Given the description of an element on the screen output the (x, y) to click on. 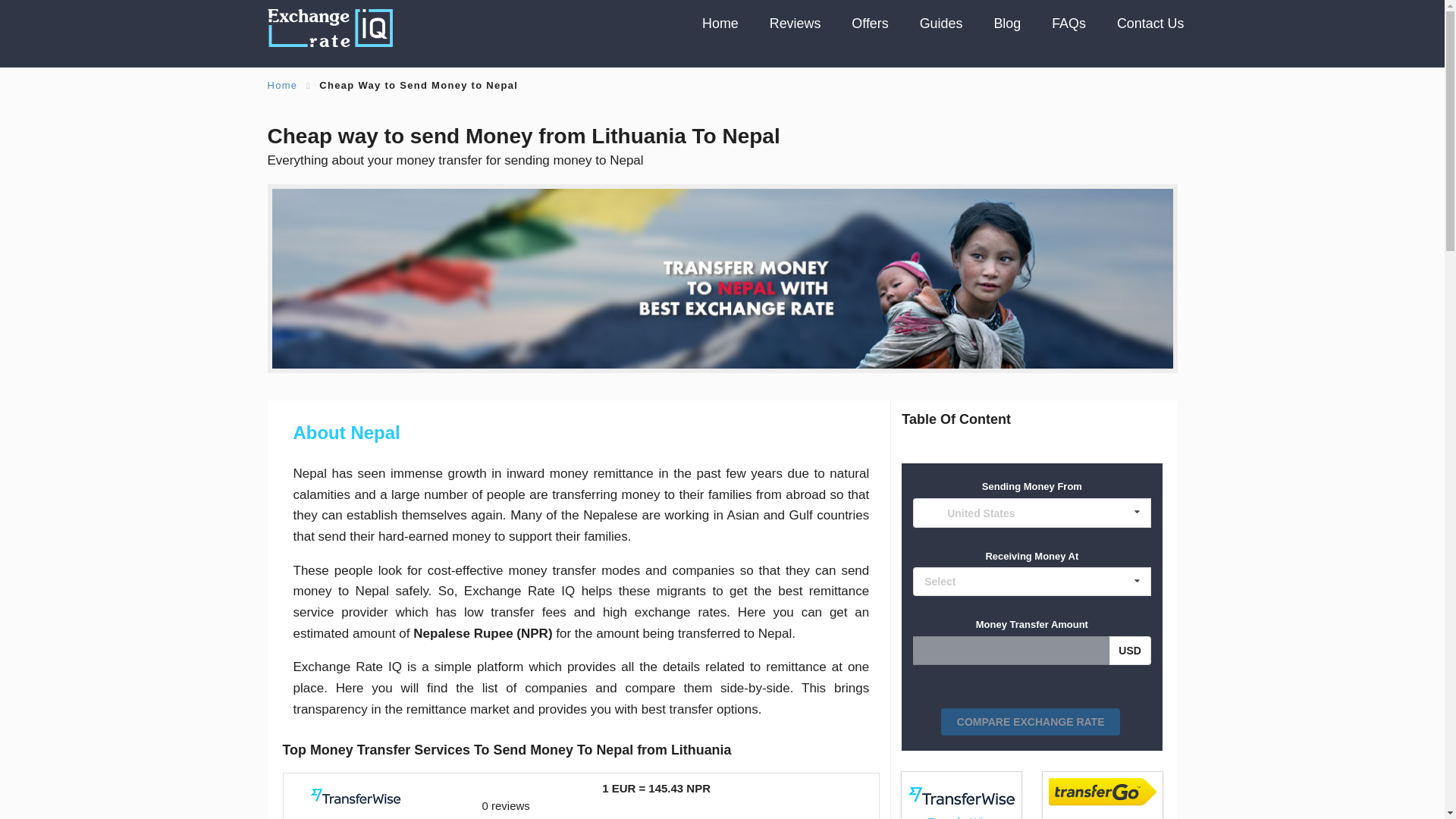
Home (281, 85)
Home (720, 24)
Contact Us (1141, 24)
Blog (1007, 24)
Money Transfer Companies Review (794, 24)
TransferWise Reviews (960, 798)
Exchangerateiq guide (941, 24)
FAQs (1069, 24)
Money Transfer Companies Offer (869, 24)
Money Transfer Companies FAQ's (1102, 798)
transfergo reviews (1069, 24)
Exchangerateiq contact info (1102, 798)
Exchangerateiq.com (1141, 24)
Guides (720, 24)
